Given the description of an element on the screen output the (x, y) to click on. 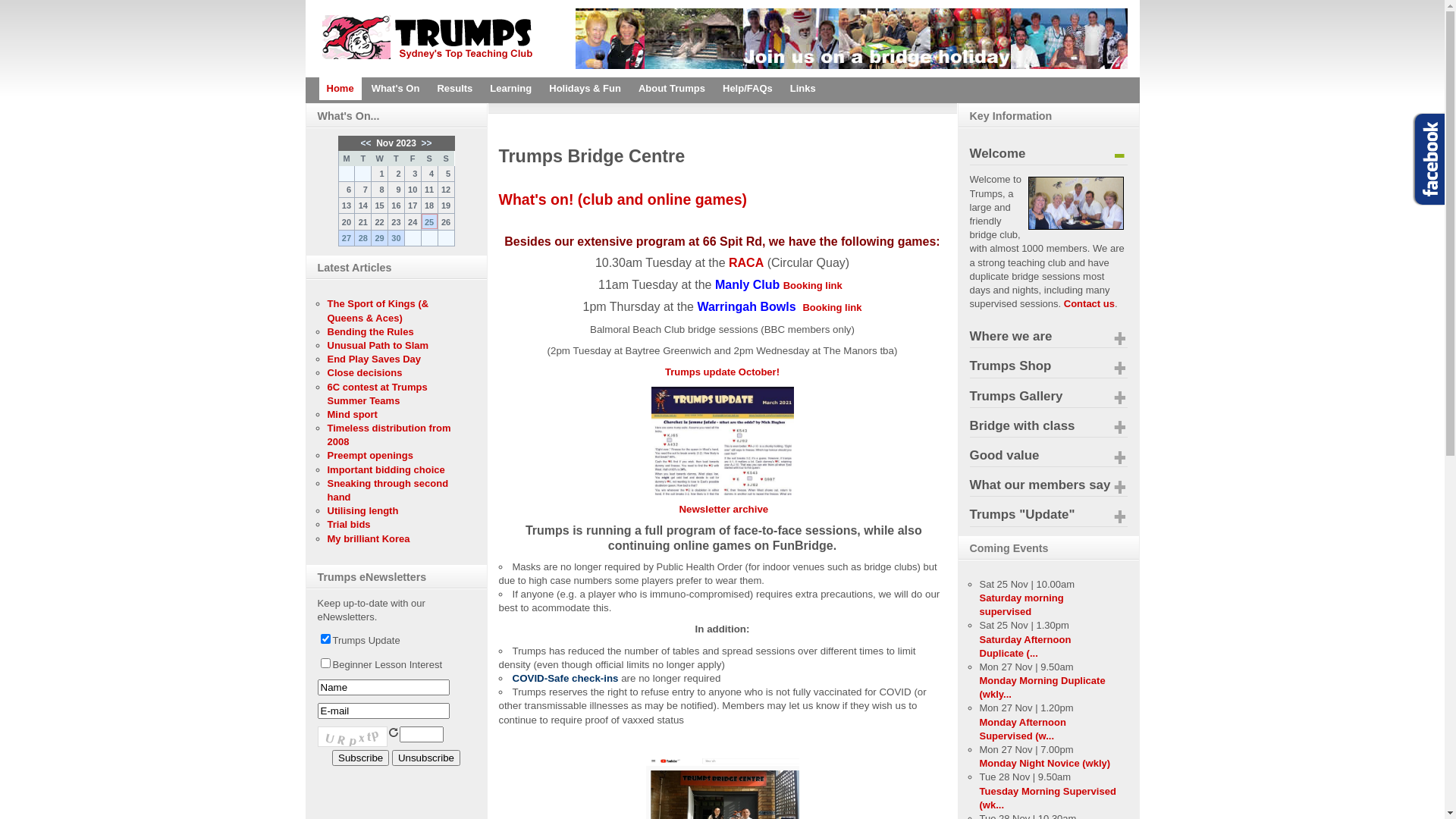
Bridge Holidays Element type: hover (850, 65)
E-mail Element type: hover (382, 710)
What's On Element type: text (395, 88)
My brilliant Korea Element type: text (368, 538)
28 Element type: text (362, 237)
About Trumps Element type: text (671, 88)
COVID-Safe check-ins Element type: text (565, 678)
Newsletter archive Element type: text (723, 508)
<< Element type: text (366, 143)
The captcha is invalid, please try again Element type: hover (420, 734)
Trumps update October! Element type: text (722, 371)
25 Element type: text (429, 221)
Monday Afternoon Supervised (w... Element type: text (1022, 728)
Trial bids Element type: text (348, 524)
Sneaking through second hand Element type: text (387, 489)
Holidays & Fun Element type: text (584, 88)
Saturday morning supervised Element type: text (1021, 604)
30 Element type: text (396, 237)
29 Element type: text (379, 237)
6C contest at Trumps Summer Teams Element type: text (377, 392)
The captcha is invalid, please try again Element type: hover (351, 736)
Monday Morning Duplicate (wkly... Element type: text (1042, 686)
Results Element type: text (454, 88)
27 Element type: text (346, 237)
Contact us Element type: text (1088, 303)
Name Element type: hover (382, 687)
Unsubscribe Element type: text (426, 757)
Unusual Path to Slam Element type: text (378, 345)
Utilising length Element type: text (362, 510)
Booking link Element type: text (831, 307)
End Play Saves Day Element type: text (374, 358)
Subscribe Element type: text (360, 757)
Close decisions Element type: text (364, 372)
Saturday Afternoon Duplicate (... Element type: text (1025, 645)
Important bidding choice Element type: text (386, 469)
  Element type: text (392, 732)
Preempt openings Element type: text (370, 455)
Booking link Element type: text (812, 285)
>> Element type: text (424, 143)
RACA Element type: text (745, 262)
What's on! (club and online games) Element type: text (622, 199)
Learning Element type: text (510, 88)
Monday Night Novice (wkly) Element type: text (1044, 762)
Tuesday Morning Supervised (wk... Element type: text (1047, 797)
Mind sport Element type: text (352, 414)
The Sport of Kings (& Queens & Aces) Element type: text (378, 310)
Links Element type: text (802, 88)
Help/FAQs Element type: text (747, 88)
Bending the Rules Element type: text (370, 331)
Timeless distribution from 2008 Element type: text (389, 434)
Home Element type: text (339, 88)
